Given the description of an element on the screen output the (x, y) to click on. 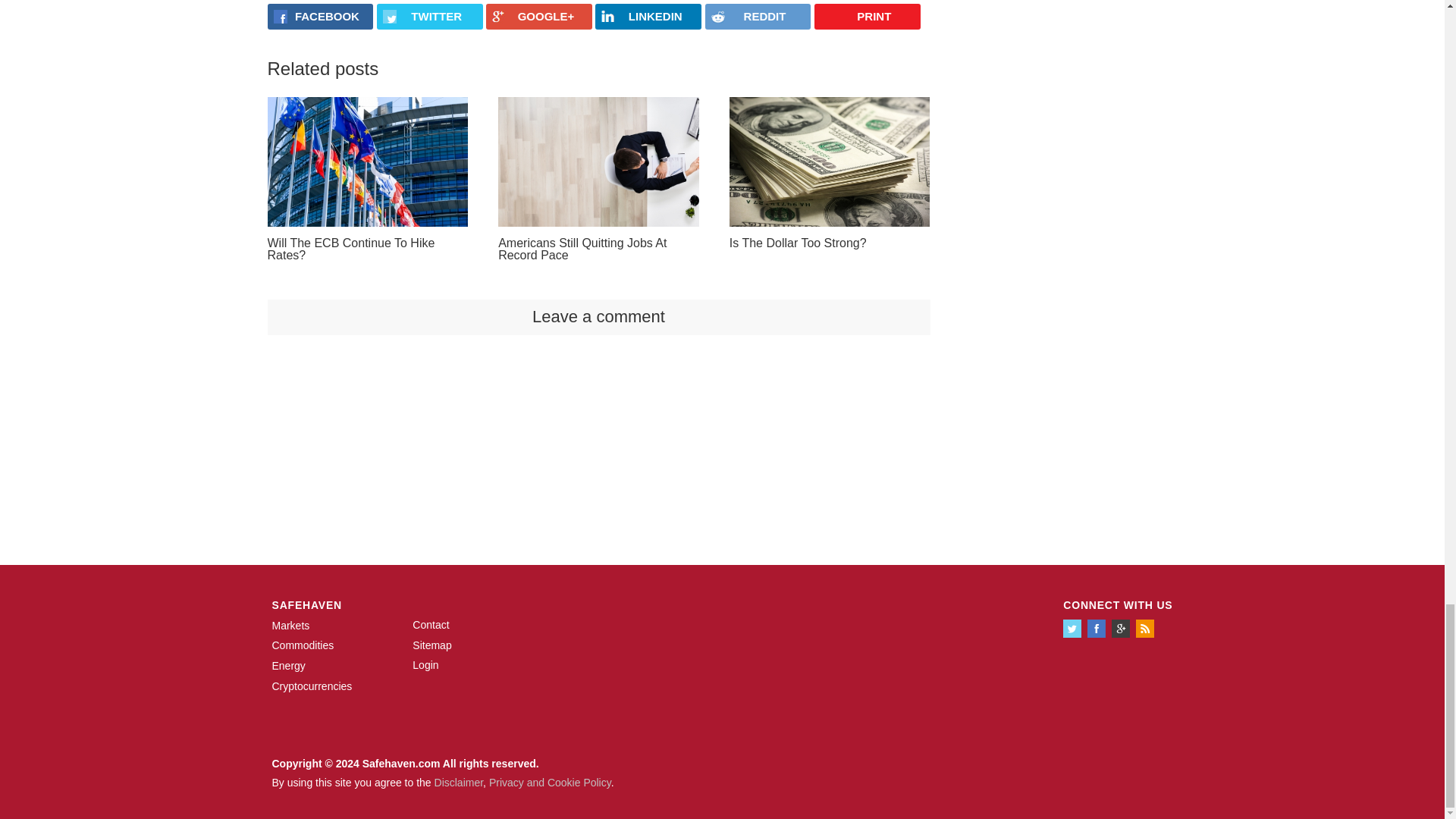
Americans Still Quitting Jobs At Record Pace (597, 161)
Will The ECB Continue To Hike Rates? (366, 161)
Is The Dollar Too Strong? (829, 161)
